Given the description of an element on the screen output the (x, y) to click on. 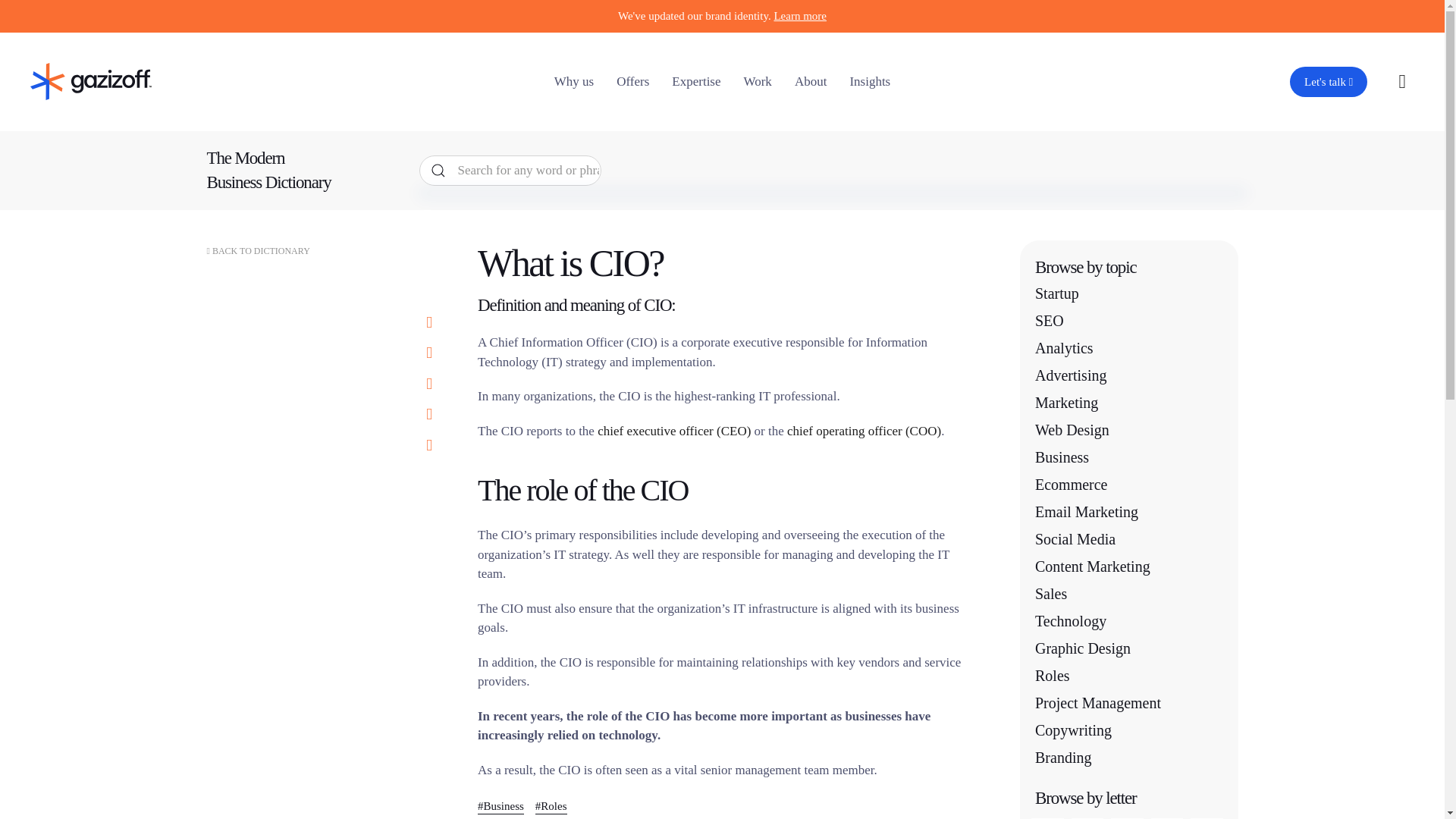
Roles (551, 805)
Learn more (800, 15)
Business (500, 805)
